Given the description of an element on the screen output the (x, y) to click on. 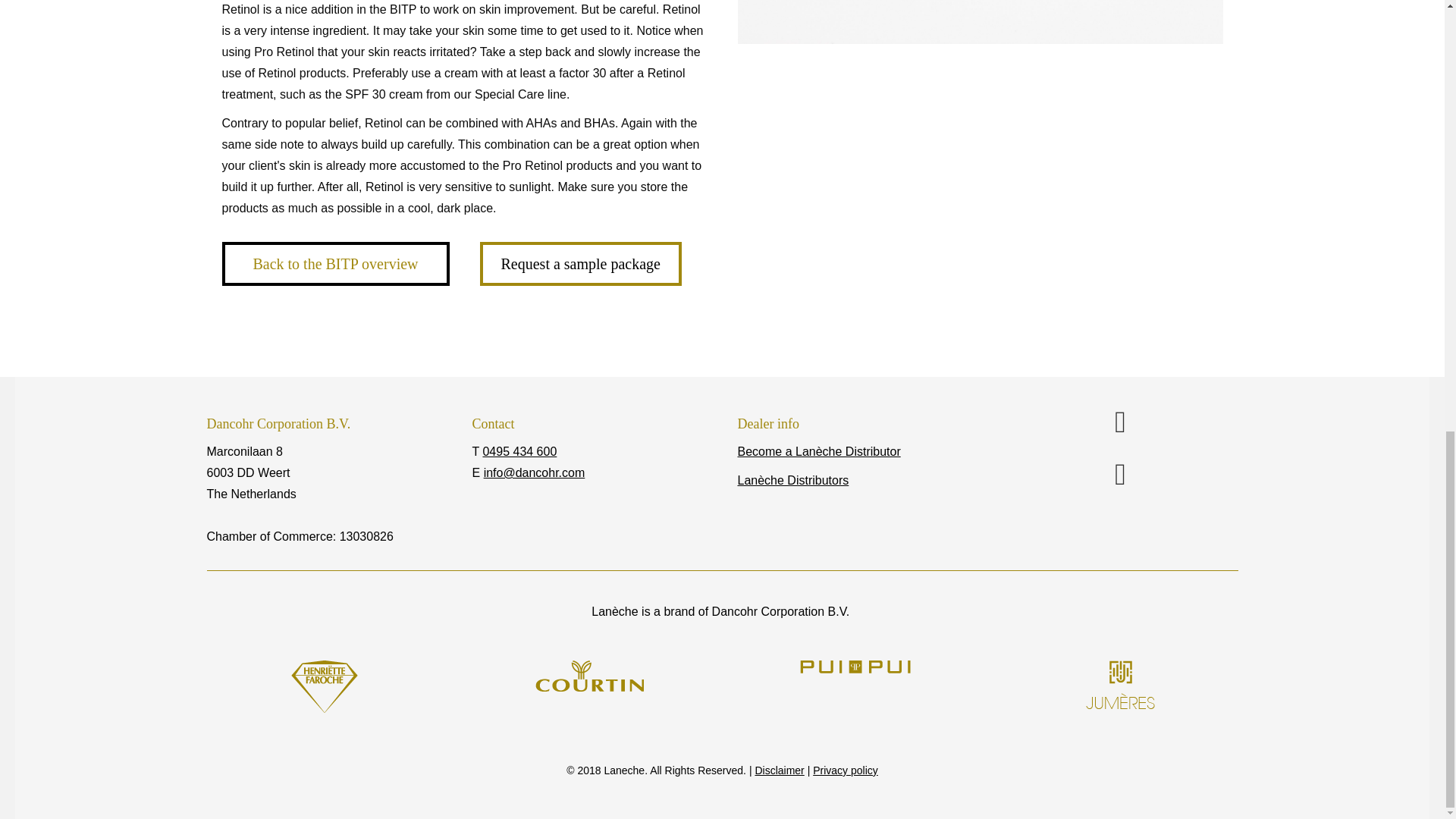
Back to the BITP overview (334, 263)
Privacy policy (844, 770)
pui pui logo (854, 666)
courtin logo (589, 675)
Disclaimer (778, 770)
Request a sample package (580, 263)
0495 434 600 (518, 451)
HF logo (324, 686)
